Given the description of an element on the screen output the (x, y) to click on. 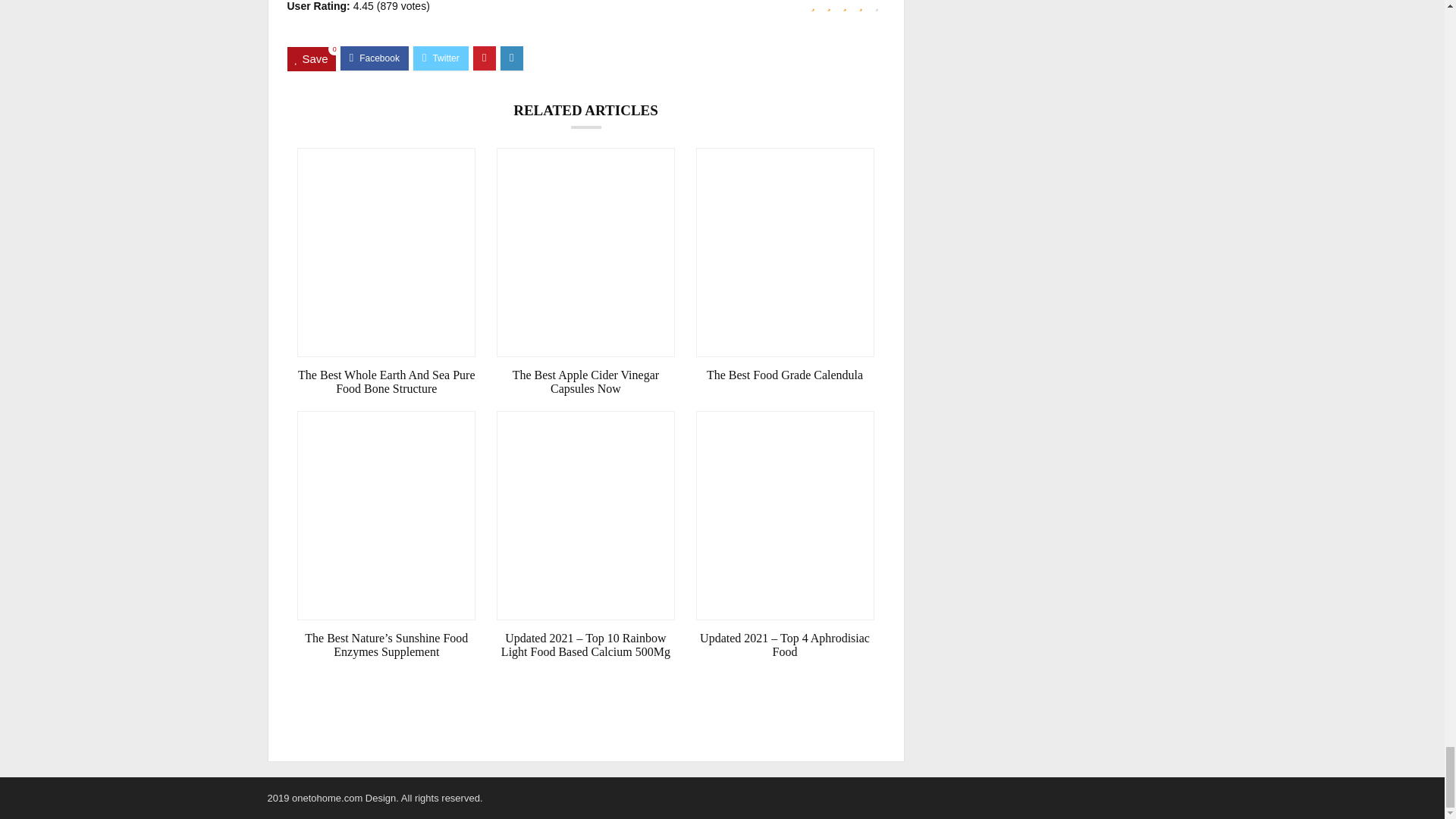
The Best Whole Earth And Sea Pure Food Bone Structure (386, 381)
The Best Apple Cider Vinegar Capsules Now (585, 381)
The Best Food Grade Calendula (785, 375)
